Given the description of an element on the screen output the (x, y) to click on. 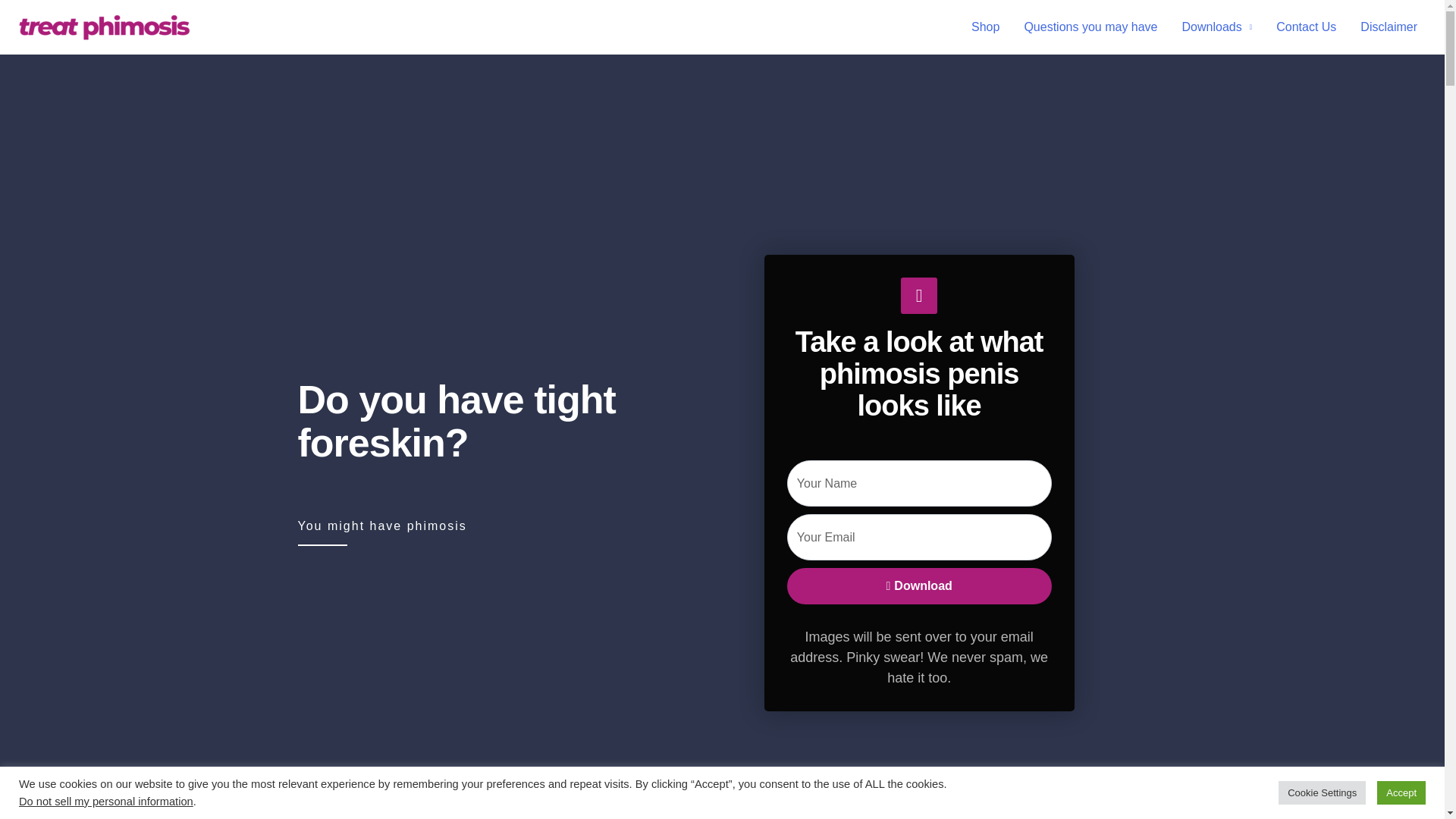
Disclaimer (1388, 26)
Shop (985, 26)
Questions you may have (1090, 26)
Download (919, 586)
Contact Us (1305, 26)
Downloads (1217, 26)
